Given the description of an element on the screen output the (x, y) to click on. 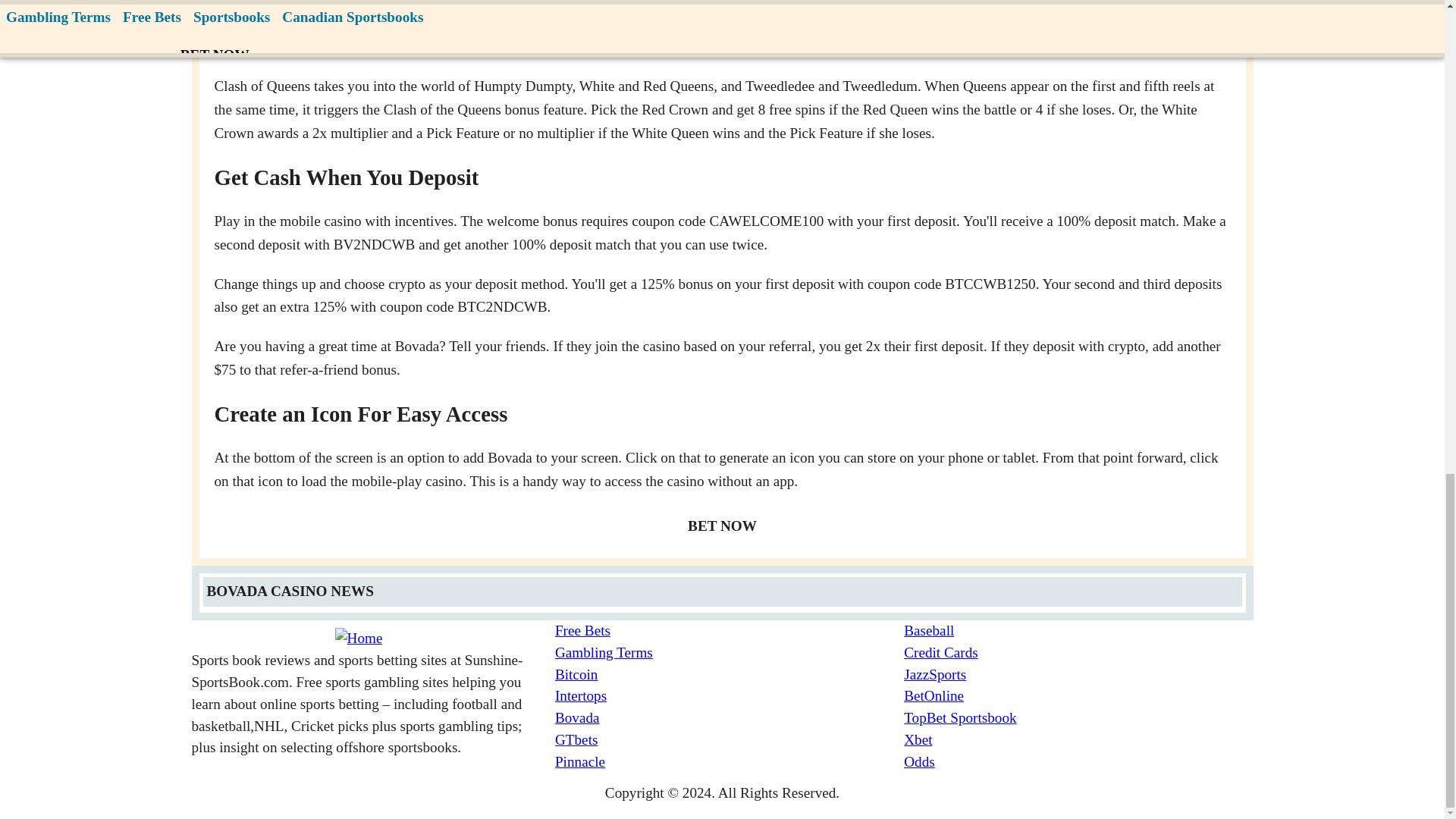
Bitcoin (729, 675)
BetOnline (1078, 696)
Credit Cards (1078, 653)
Pinnacle (729, 762)
Gambling Terms (729, 653)
TopBet Sportsbook (1078, 718)
Intertops (729, 696)
Xbet (1078, 740)
JazzSports (1078, 675)
Baseball (1078, 630)
